Given the description of an element on the screen output the (x, y) to click on. 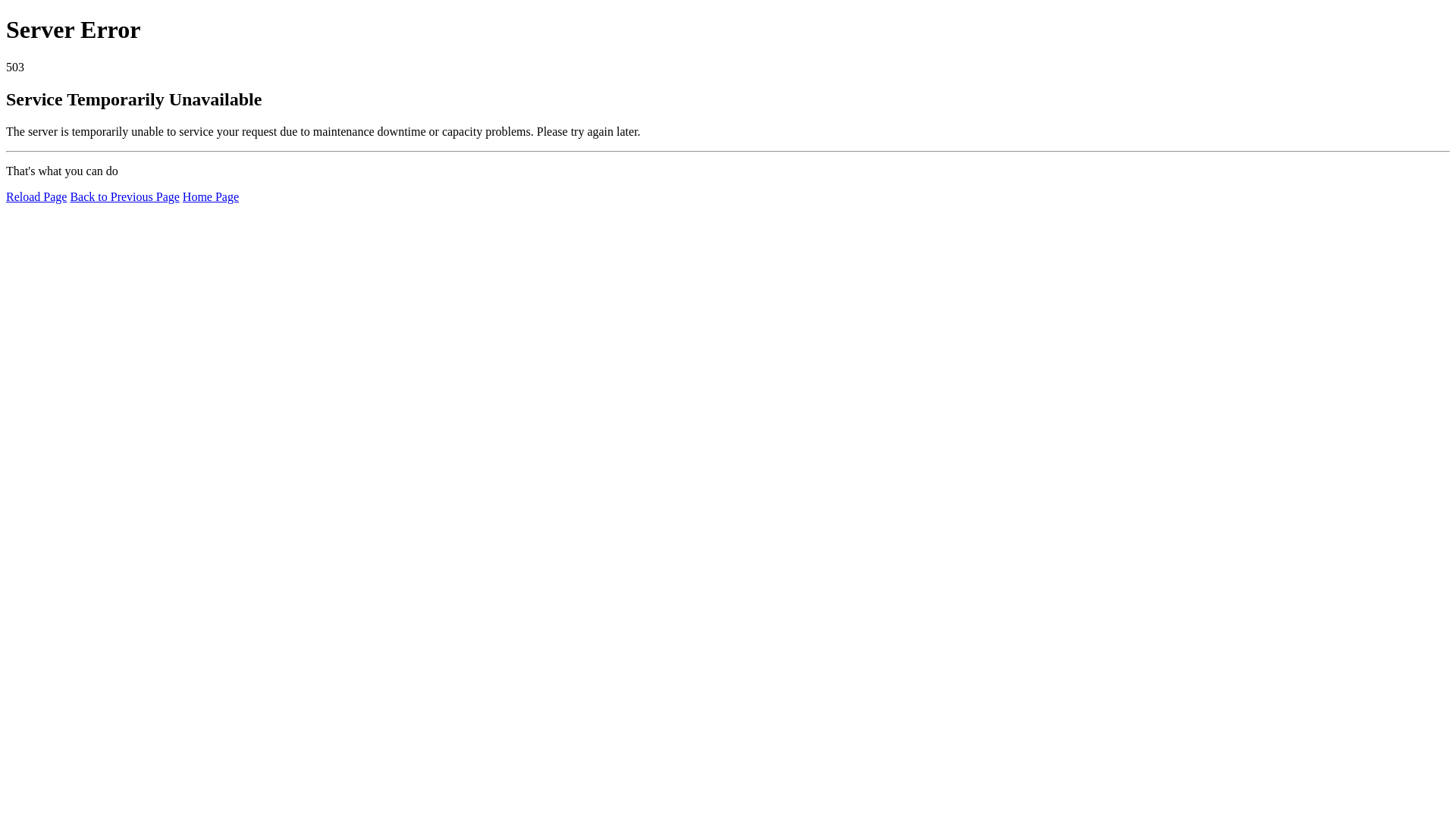
Back to Previous Page Element type: text (123, 196)
Reload Page Element type: text (36, 196)
Home Page Element type: text (210, 196)
